Given the description of an element on the screen output the (x, y) to click on. 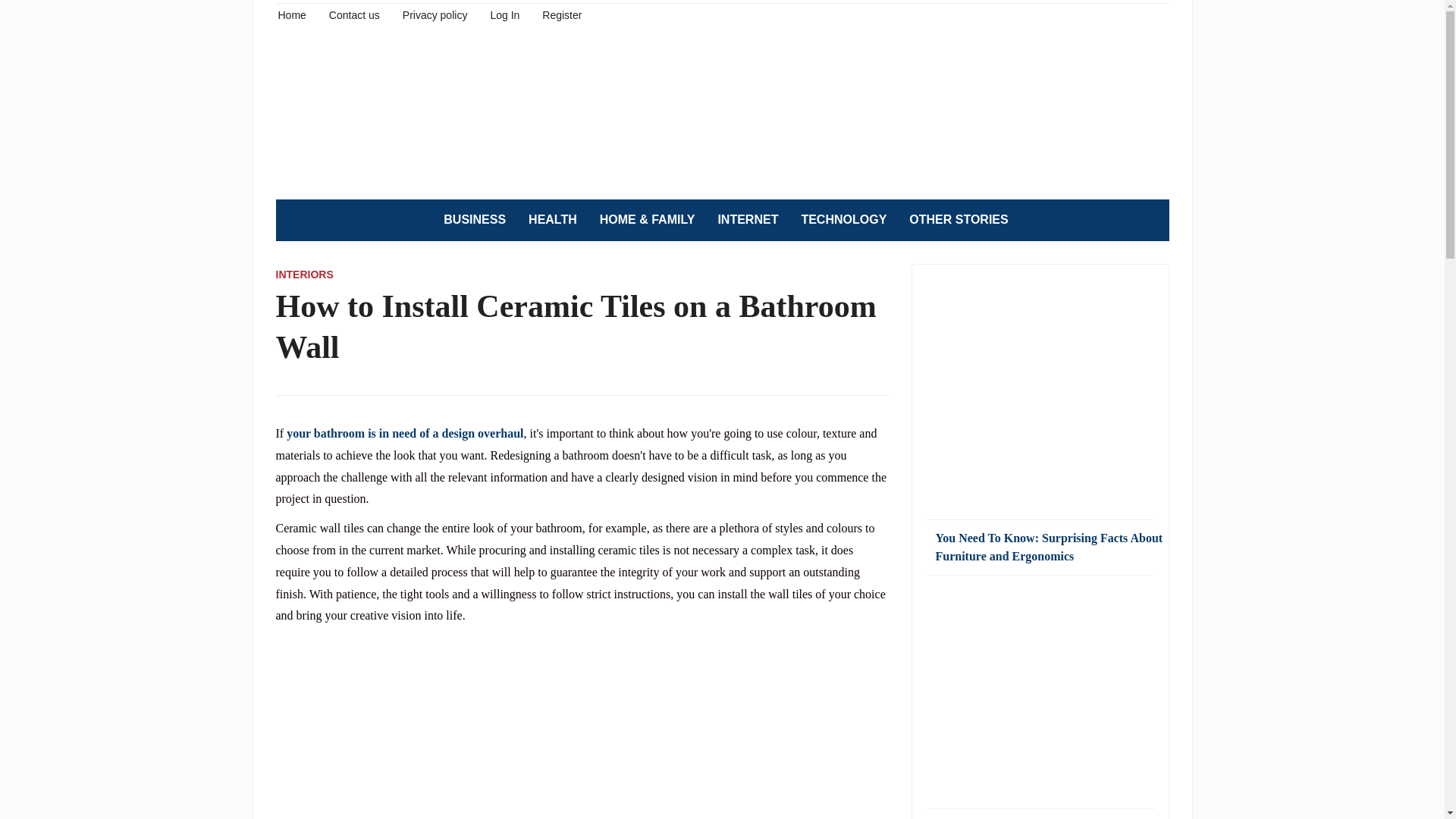
Contact us (354, 14)
Privacy policy (435, 14)
Log In (504, 14)
Register (560, 14)
Search (1149, 219)
Home (291, 14)
